Given the description of an element on the screen output the (x, y) to click on. 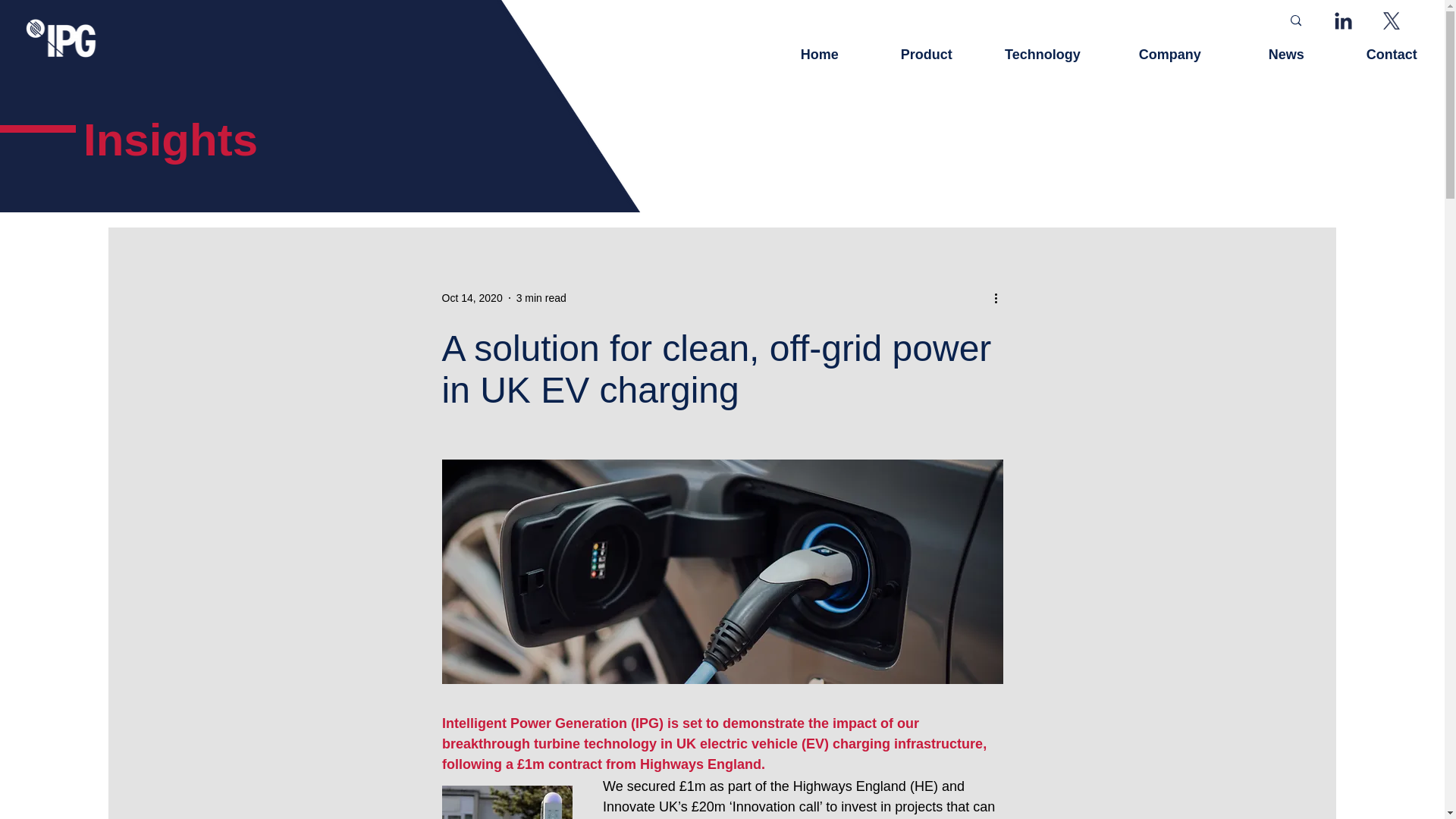
News (1264, 54)
Oct 14, 2020 (471, 297)
Contact (1372, 54)
Technology (1027, 54)
Company (1152, 54)
Product (906, 54)
3 min read (541, 297)
Home (797, 54)
